Given the description of an element on the screen output the (x, y) to click on. 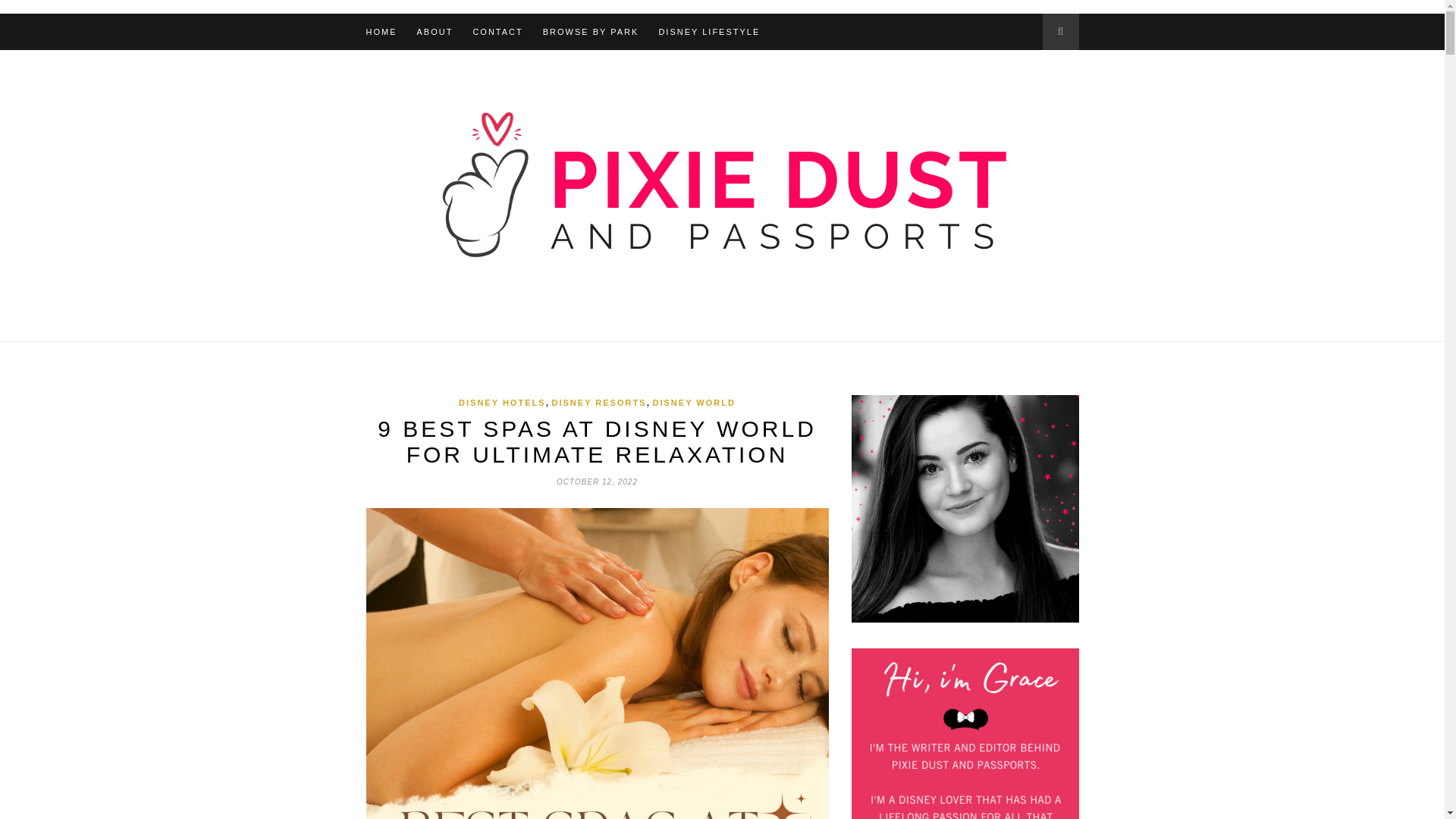
BROWSE BY PARK (591, 31)
ABOUT (434, 31)
View all posts in Disney World (693, 402)
DISNEY LIFESTYLE (709, 31)
View all posts in Disney Resorts (598, 402)
View all posts in Disney Hotels (501, 402)
HOME (380, 31)
CONTACT (496, 31)
